Given the description of an element on the screen output the (x, y) to click on. 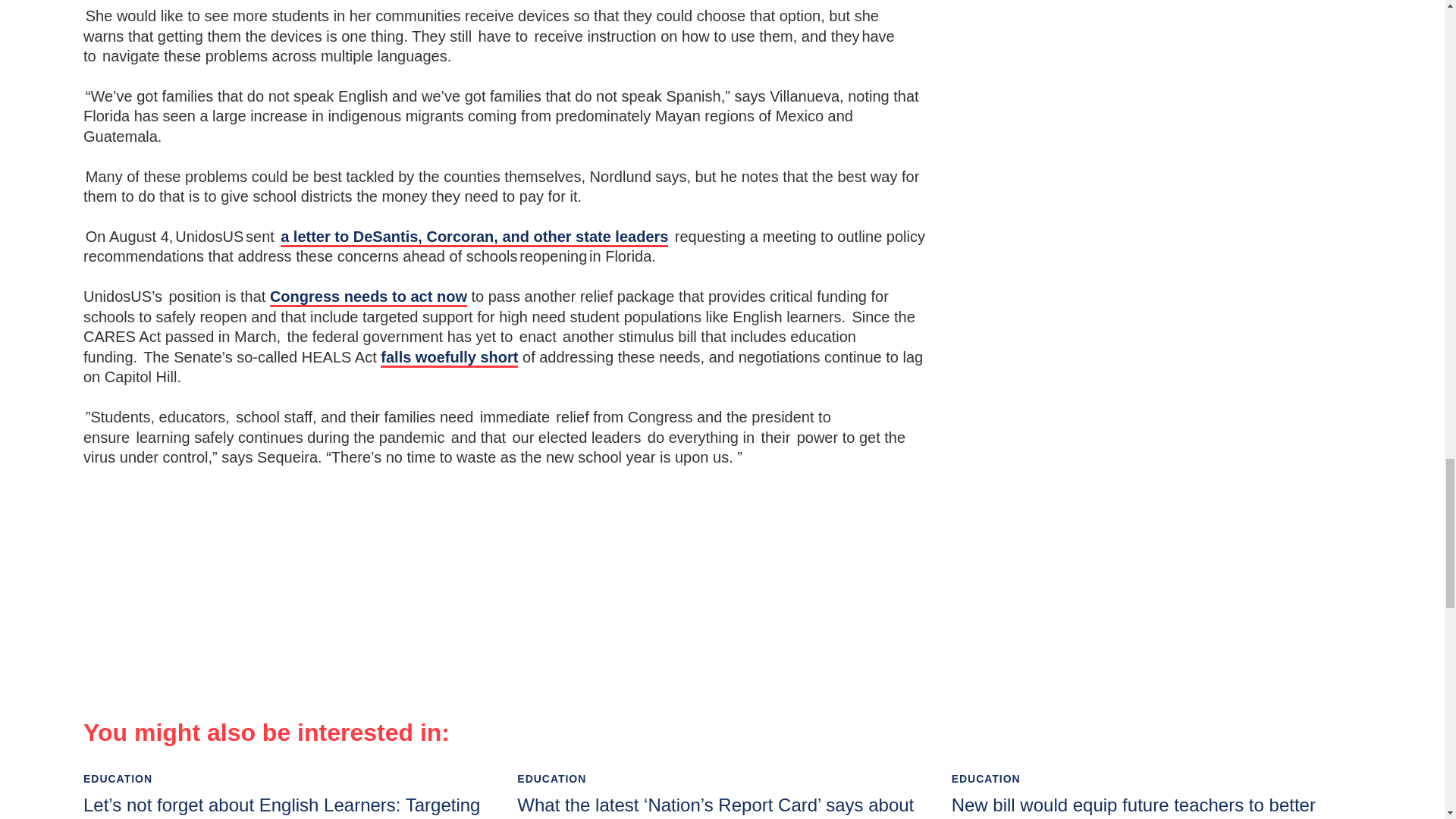
a letter to DeSantis, Corcoran, and other state leaders (474, 237)
Congress needs to act now (368, 297)
falls woefully short (449, 357)
